Given the description of an element on the screen output the (x, y) to click on. 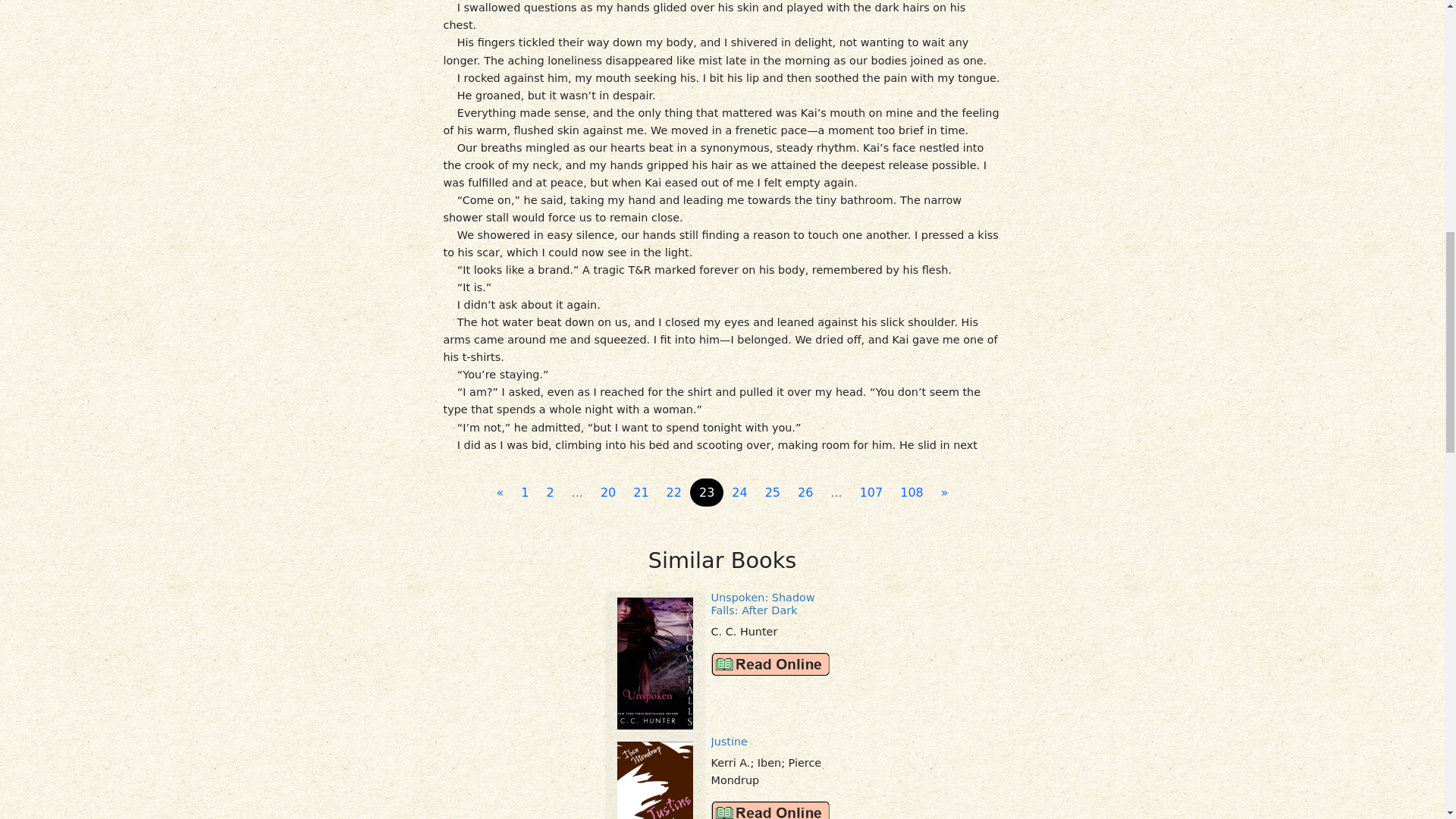
22 (674, 492)
1 (524, 492)
107 (871, 492)
24 (738, 492)
2 (549, 492)
23 (706, 492)
25 (772, 492)
26 (805, 492)
... (835, 492)
... (577, 492)
